Given the description of an element on the screen output the (x, y) to click on. 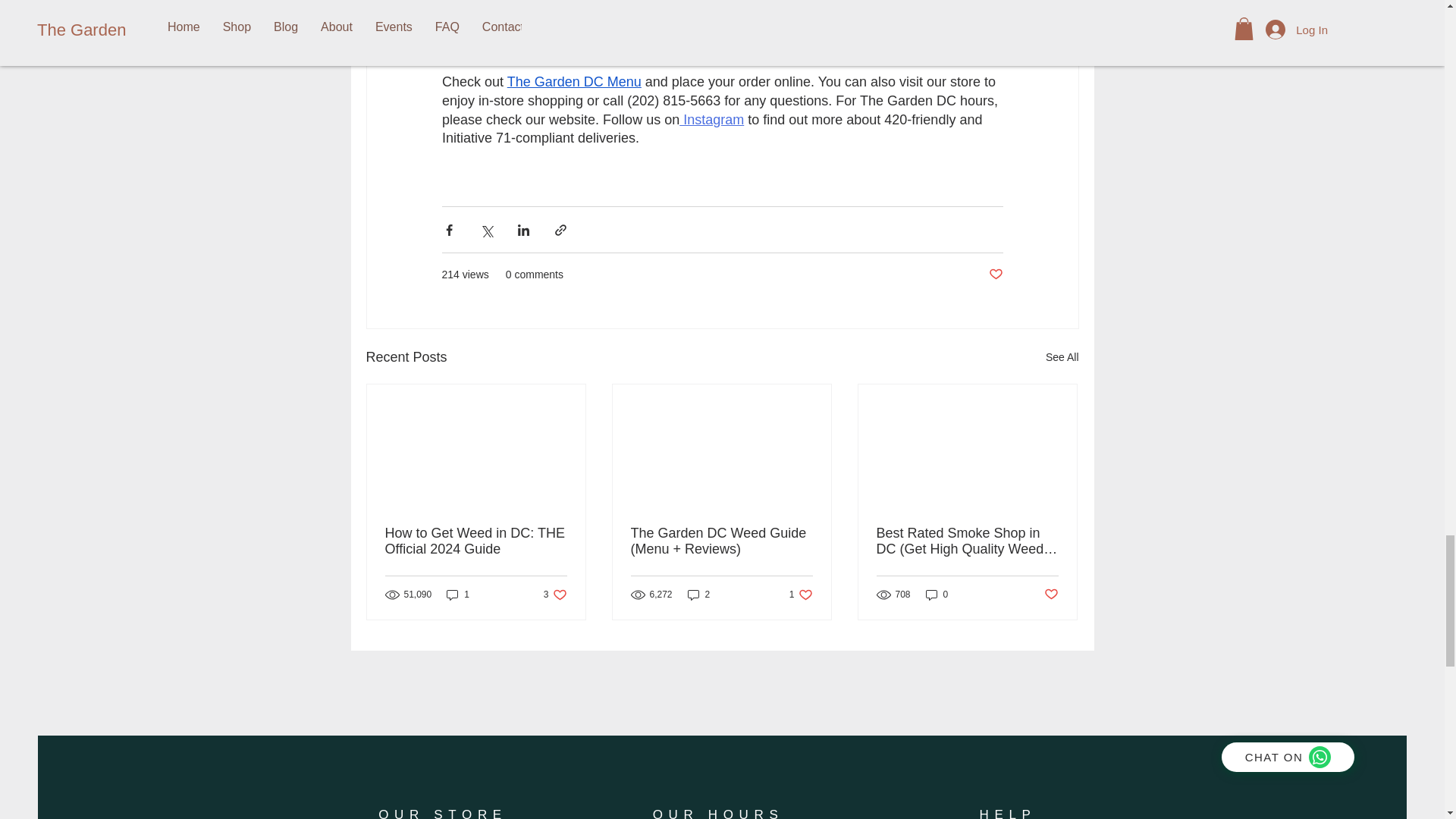
See All (555, 594)
1 (1061, 357)
The Garden DC Menu (457, 594)
How to Get Weed in DC: THE Official 2024 Guide (573, 81)
2 (476, 541)
 Instagram (698, 594)
Post not marked as liked (800, 594)
Post not marked as liked (711, 119)
0 (1050, 594)
